Given the description of an element on the screen output the (x, y) to click on. 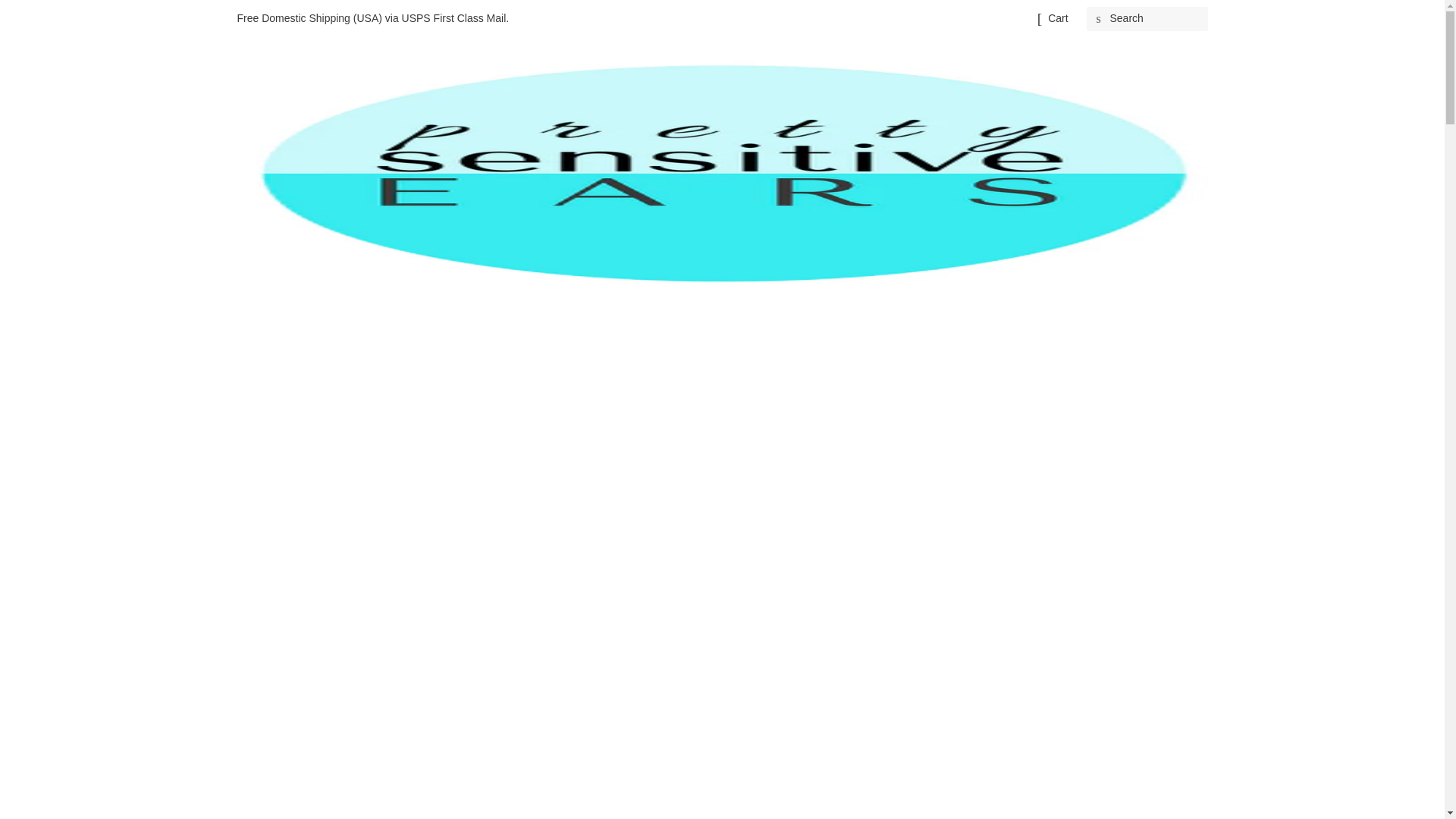
Cart (1057, 18)
SEARCH (1097, 18)
